Given the description of an element on the screen output the (x, y) to click on. 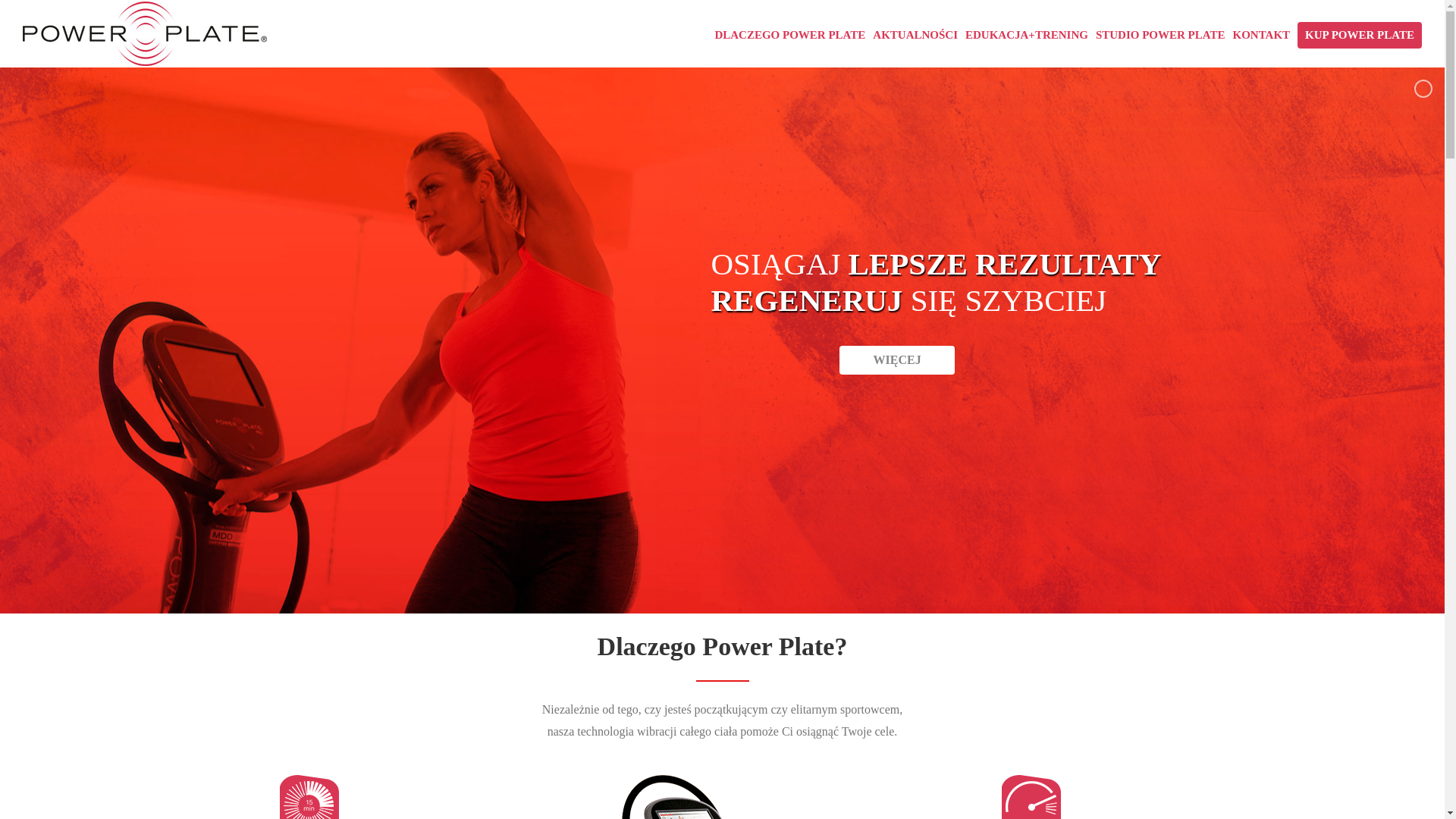
KUP POWER PLATE (1359, 33)
line (722, 680)
6i (1031, 796)
1i (309, 796)
STUDIO POWER PLATE (1160, 33)
DLACZEGO POWER PLATE (789, 33)
platform (722, 796)
